Given the description of an element on the screen output the (x, y) to click on. 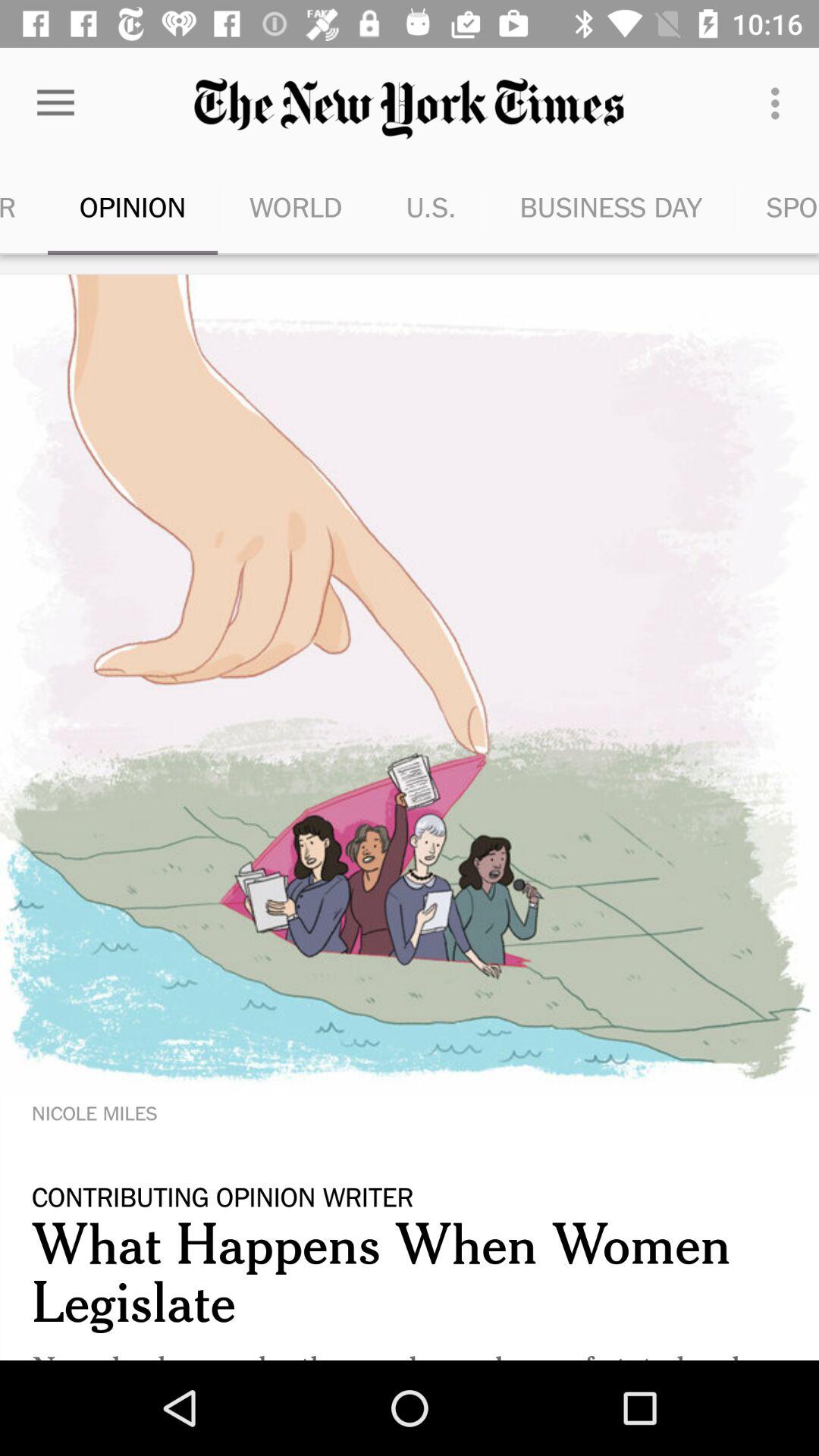
press icon to the right of opinion icon (295, 206)
